Given the description of an element on the screen output the (x, y) to click on. 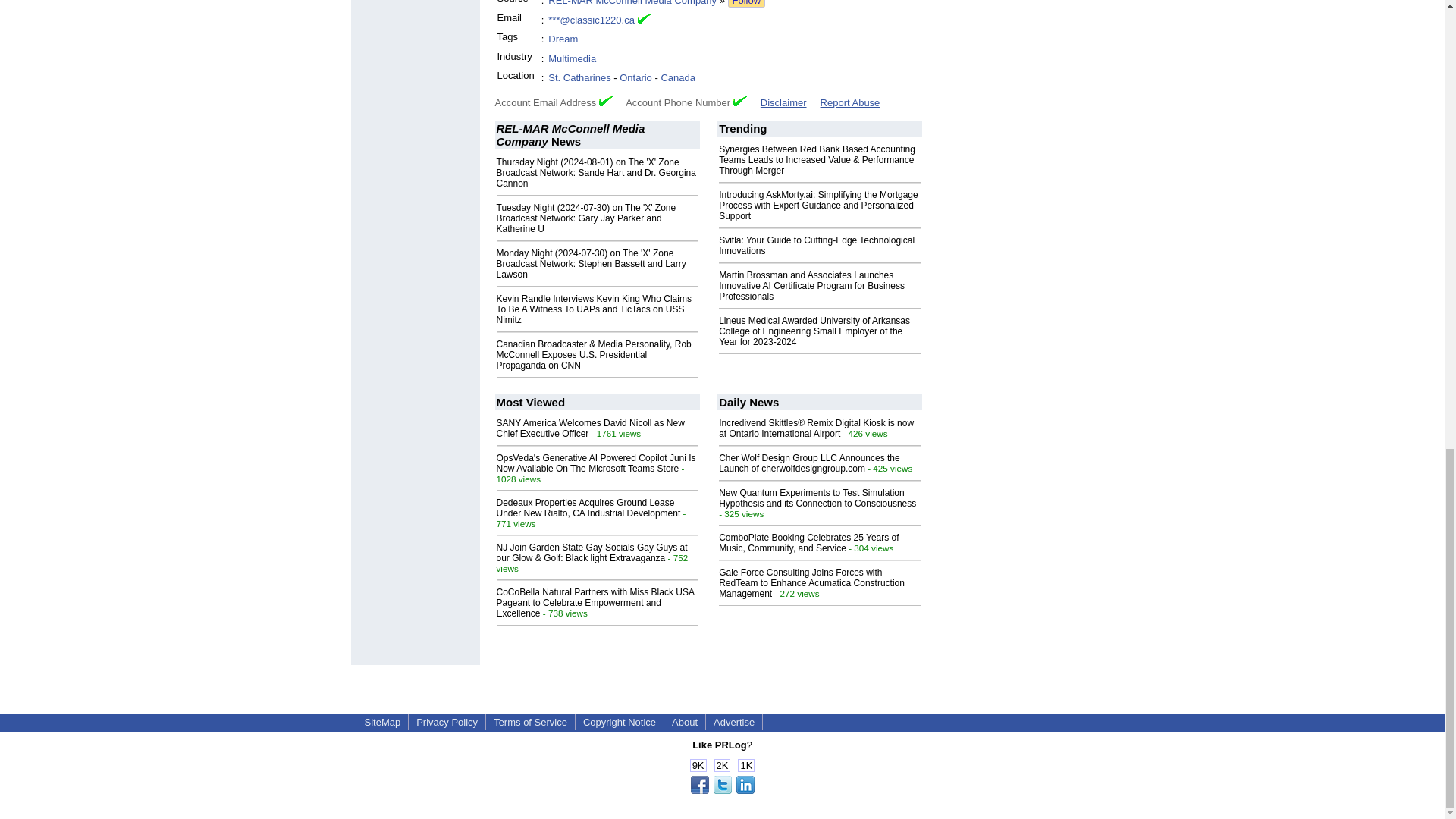
Verified (739, 101)
Share this page! (722, 790)
Verified (605, 101)
Email Verified (643, 20)
